Given the description of an element on the screen output the (x, y) to click on. 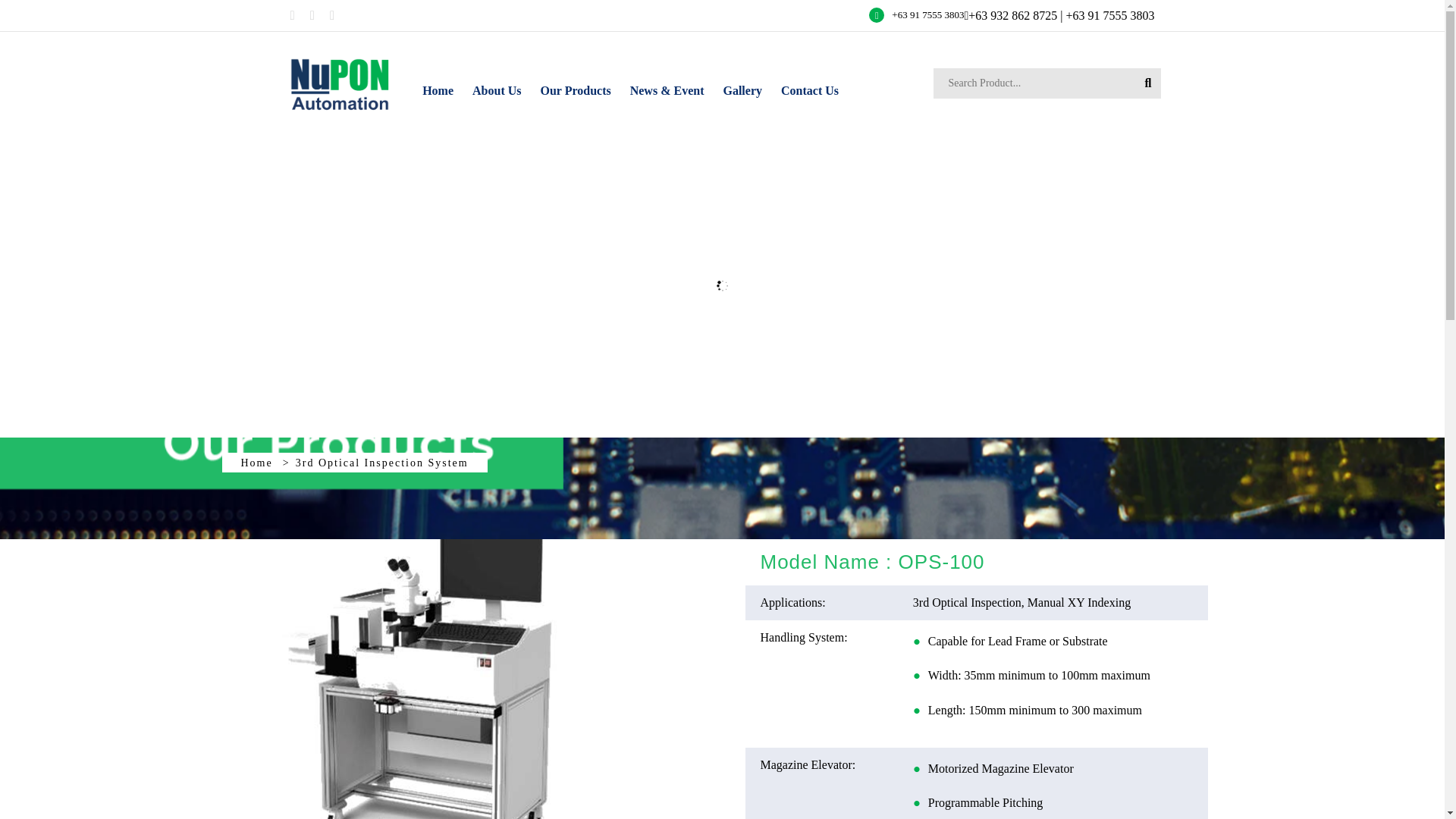
Nupon Automation (337, 82)
Contact Us (809, 88)
Gallery (741, 88)
3rd Optical Inspection System (433, 660)
3rd Optical Inspection System (381, 462)
Our Products (575, 88)
Home (257, 462)
About Us (496, 88)
